Given the description of an element on the screen output the (x, y) to click on. 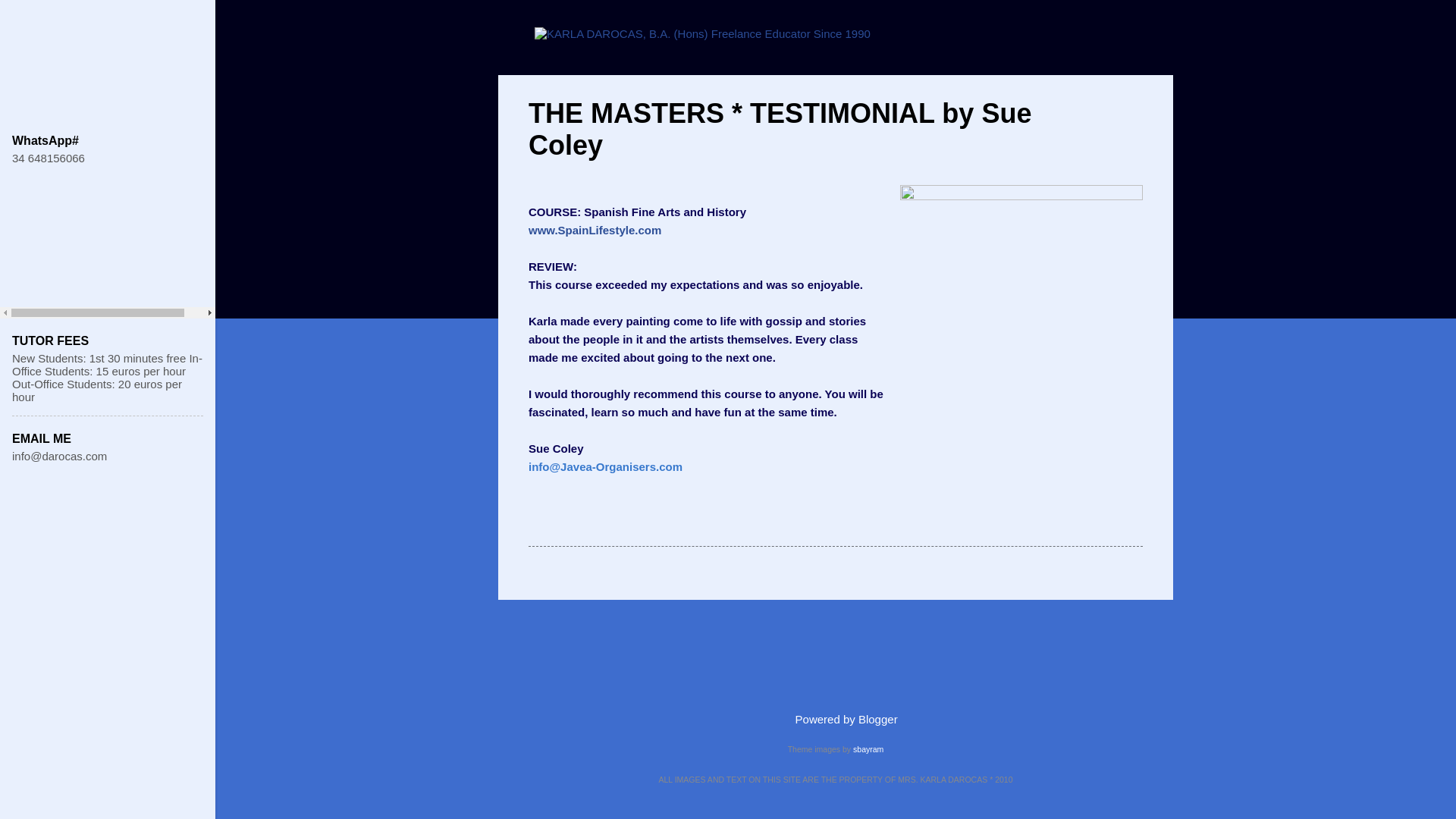
Powered by Blogger (834, 718)
www.SpainLifestyle.com (594, 228)
Search (29, 18)
Email Post (567, 518)
sbayram (868, 748)
